Given the description of an element on the screen output the (x, y) to click on. 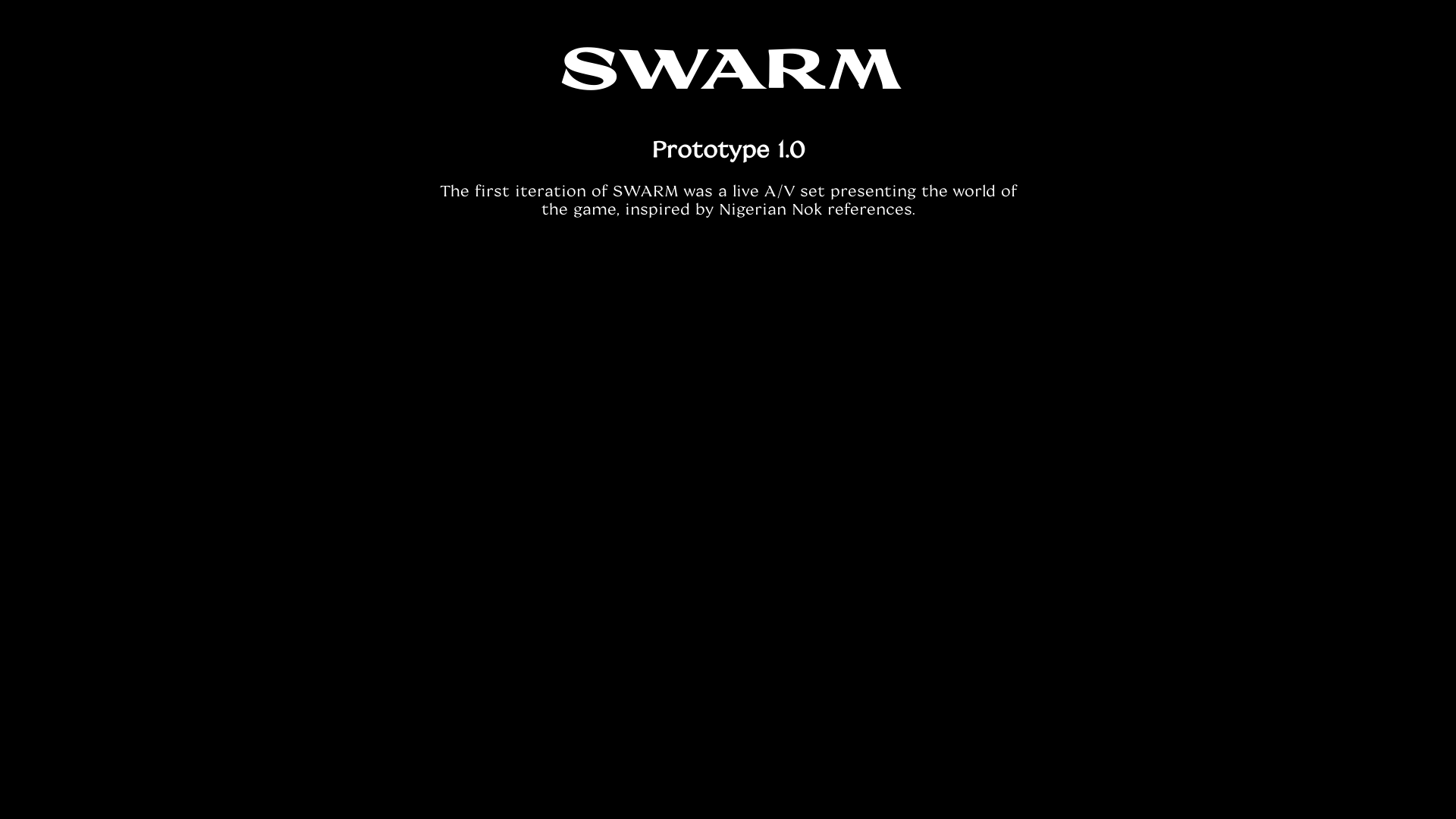
YouTube video player Element type: hover (727, 429)
